Given the description of an element on the screen output the (x, y) to click on. 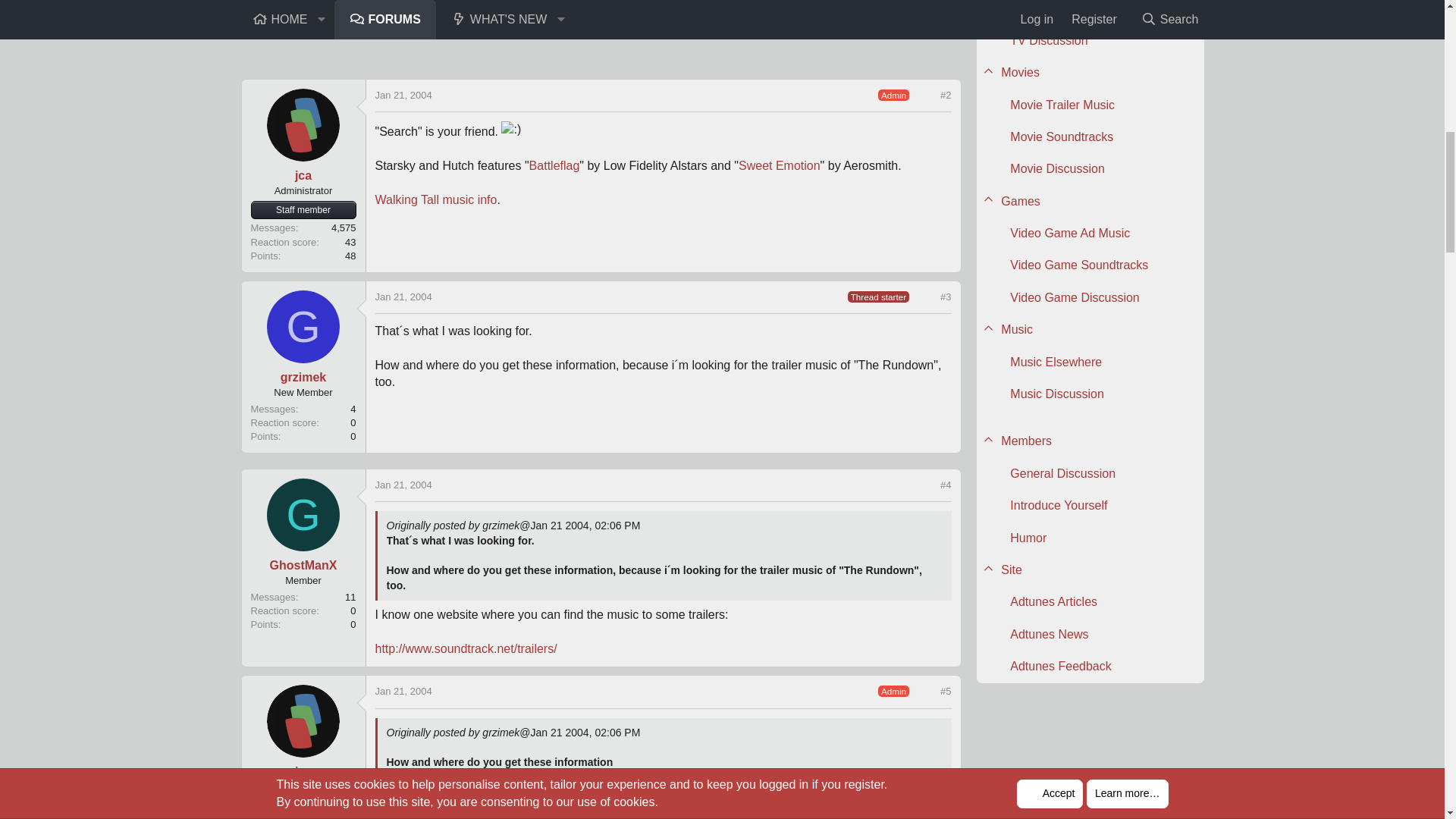
Advertisement (600, 35)
Jan 21, 2004 at 4:06 PM (402, 296)
Jan 21, 2004 at 6:19 PM (402, 484)
Jan 21, 2004 at 7:26 PM (402, 690)
Jan 21, 2004 at 12:26 PM (402, 94)
